Given the description of an element on the screen output the (x, y) to click on. 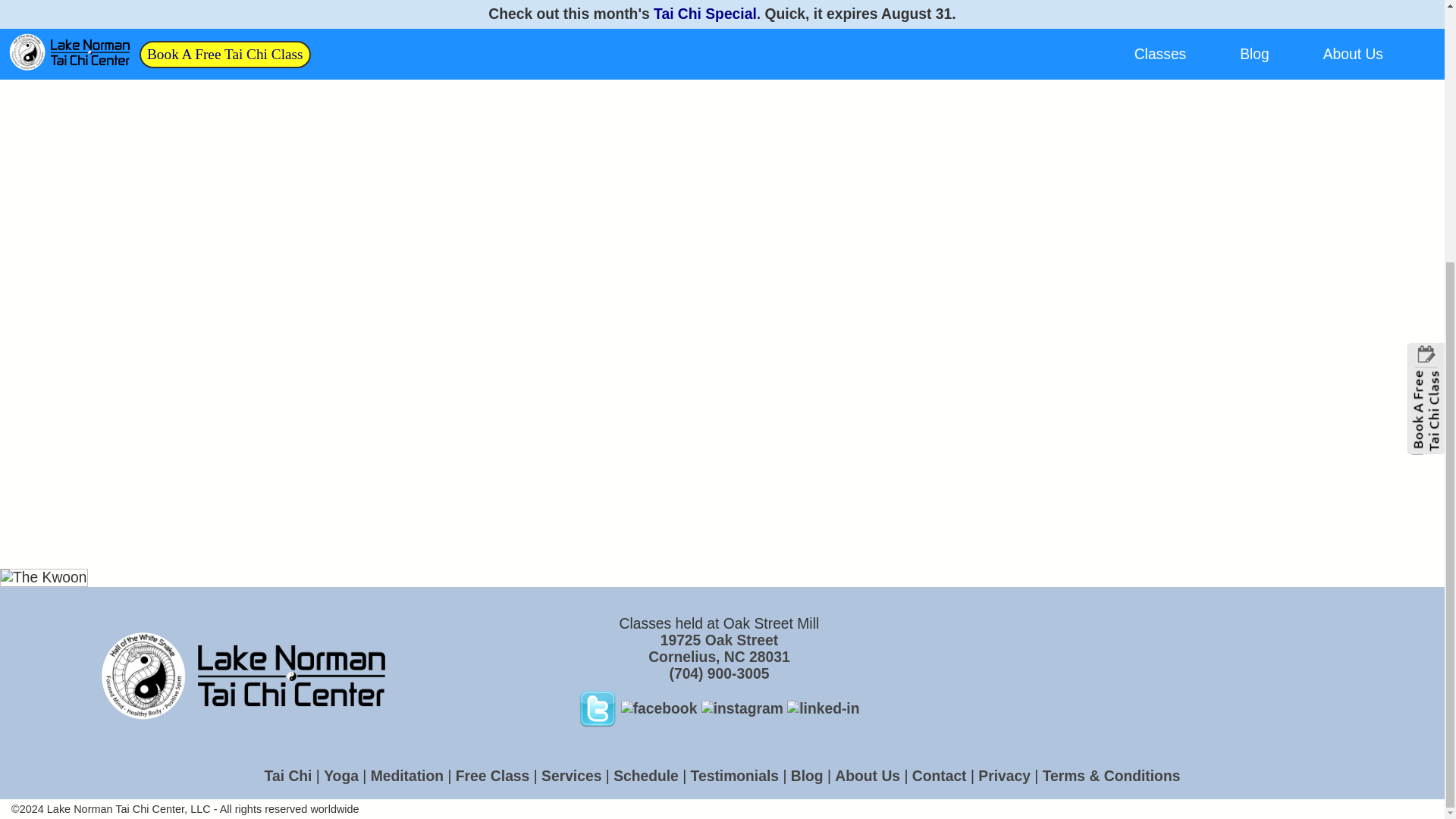
Lake Norman Tai Chi Center Instagram Page (744, 707)
Lake Norman Tai Chi Center Facebook Page (661, 707)
Lake Norman Tai Chi Center Twitter Page (599, 707)
Get directions (718, 648)
Lake Norman Tai Chi Center LinkedIn Page (718, 648)
